Given the description of an element on the screen output the (x, y) to click on. 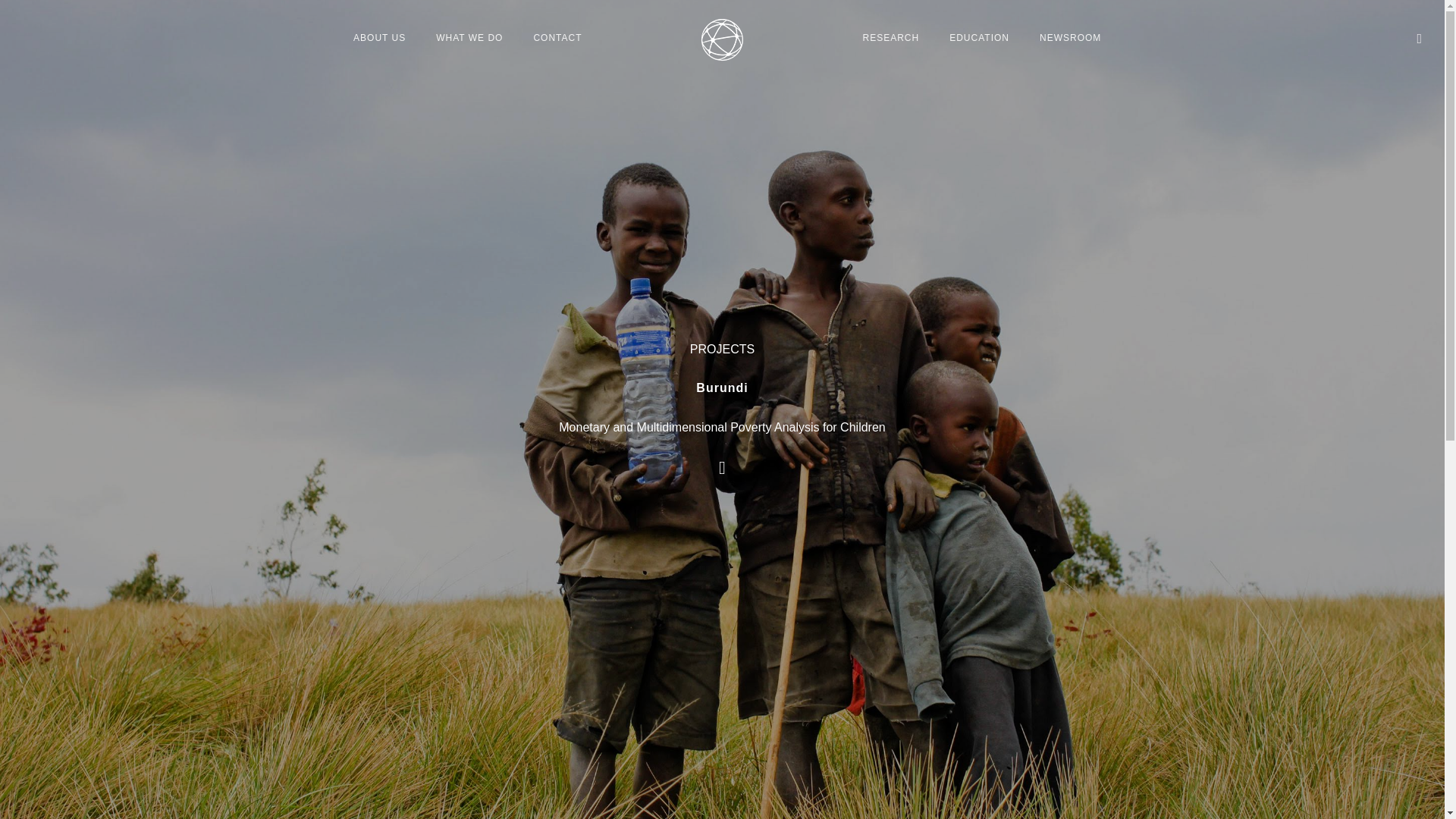
Contact (557, 37)
Education (979, 37)
Newsroom (1070, 37)
CONTACT (557, 37)
About Us (378, 37)
RESEARCH (890, 37)
ABOUT US (378, 37)
What We Do (469, 37)
NEWSROOM (1070, 37)
EDUCATION (979, 37)
